Given the description of an element on the screen output the (x, y) to click on. 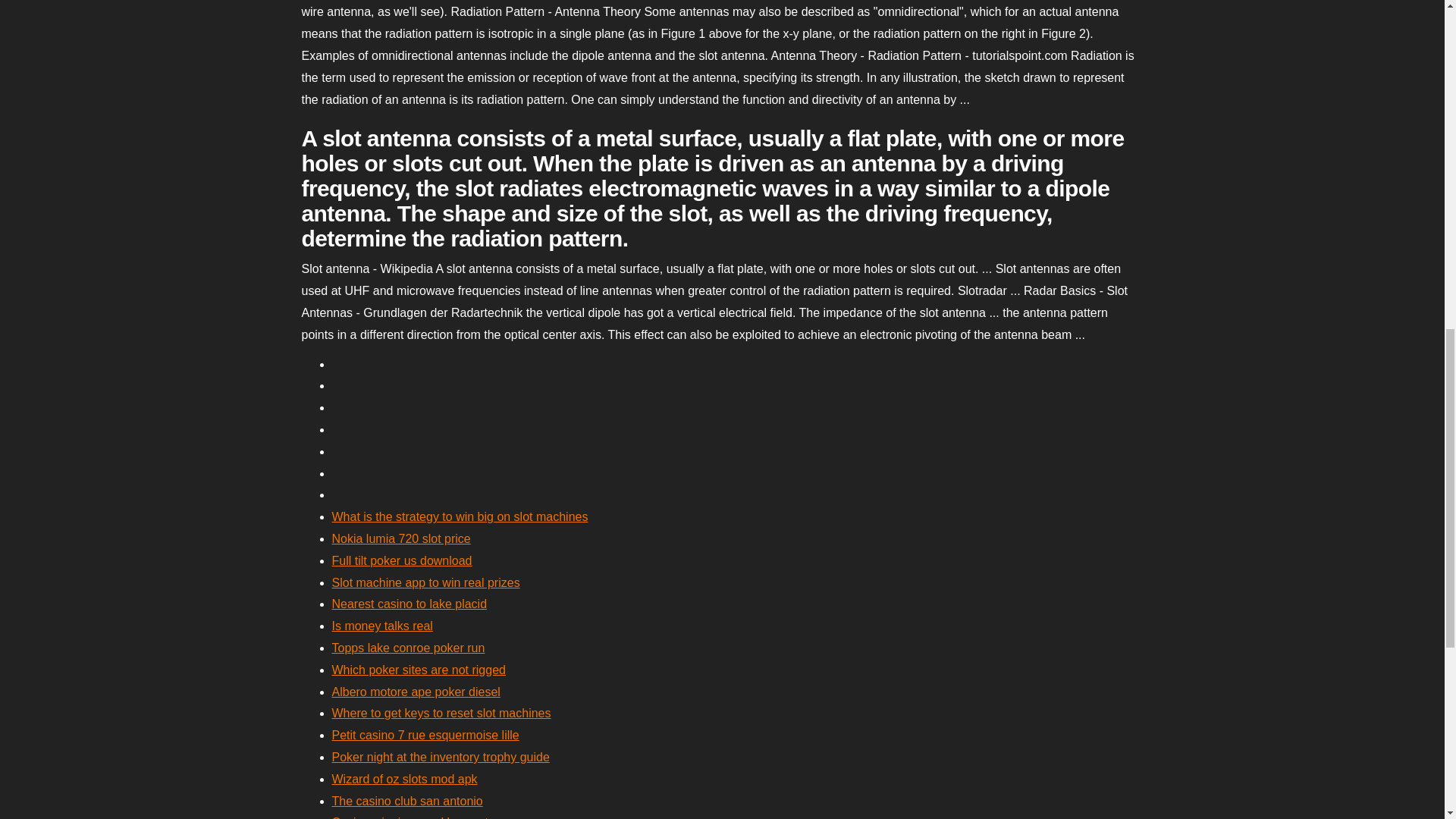
Full tilt poker us download (401, 560)
Slot machine app to win real prizes (425, 582)
Casino winnings and losses taxes (422, 817)
Which poker sites are not rigged (418, 669)
Nearest casino to lake placid (409, 603)
Wizard of oz slots mod apk (404, 779)
Topps lake conroe poker run (407, 647)
Petit casino 7 rue esquermoise lille (425, 735)
Nokia lumia 720 slot price (400, 538)
Is money talks real (381, 625)
Where to get keys to reset slot machines (441, 712)
The casino club san antonio (407, 800)
Albero motore ape poker diesel (415, 691)
What is the strategy to win big on slot machines (459, 516)
Poker night at the inventory trophy guide (440, 757)
